Given the description of an element on the screen output the (x, y) to click on. 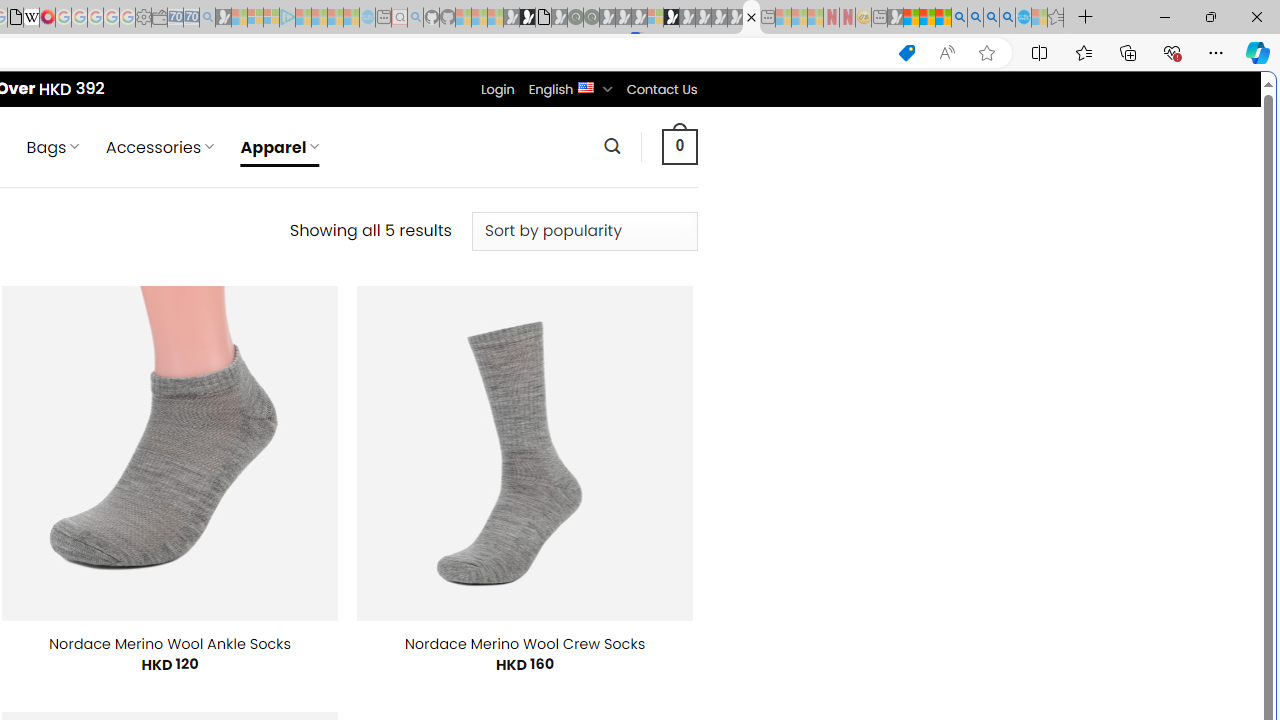
Nordace - Apparel (751, 17)
Login (497, 89)
Shop order (584, 231)
Microsoft Start Gaming - Sleeping (223, 17)
Play Cave FRVR in your browser | Games from Microsoft Start (343, 426)
